Given the description of an element on the screen output the (x, y) to click on. 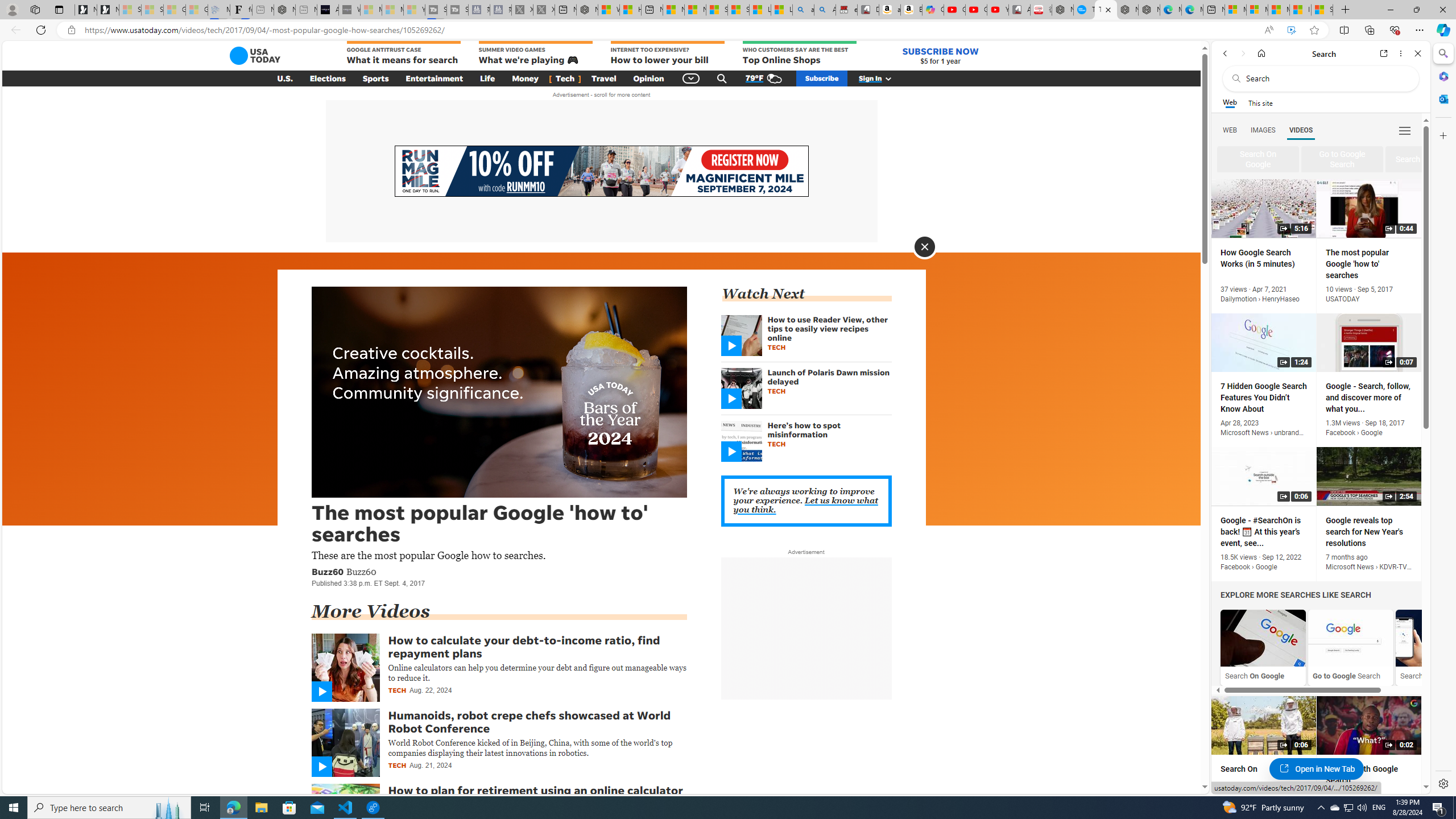
Web scope (1230, 102)
Side bar (1443, 418)
USA TODAY (254, 55)
Class: b_serphb (1404, 130)
